Given the description of an element on the screen output the (x, y) to click on. 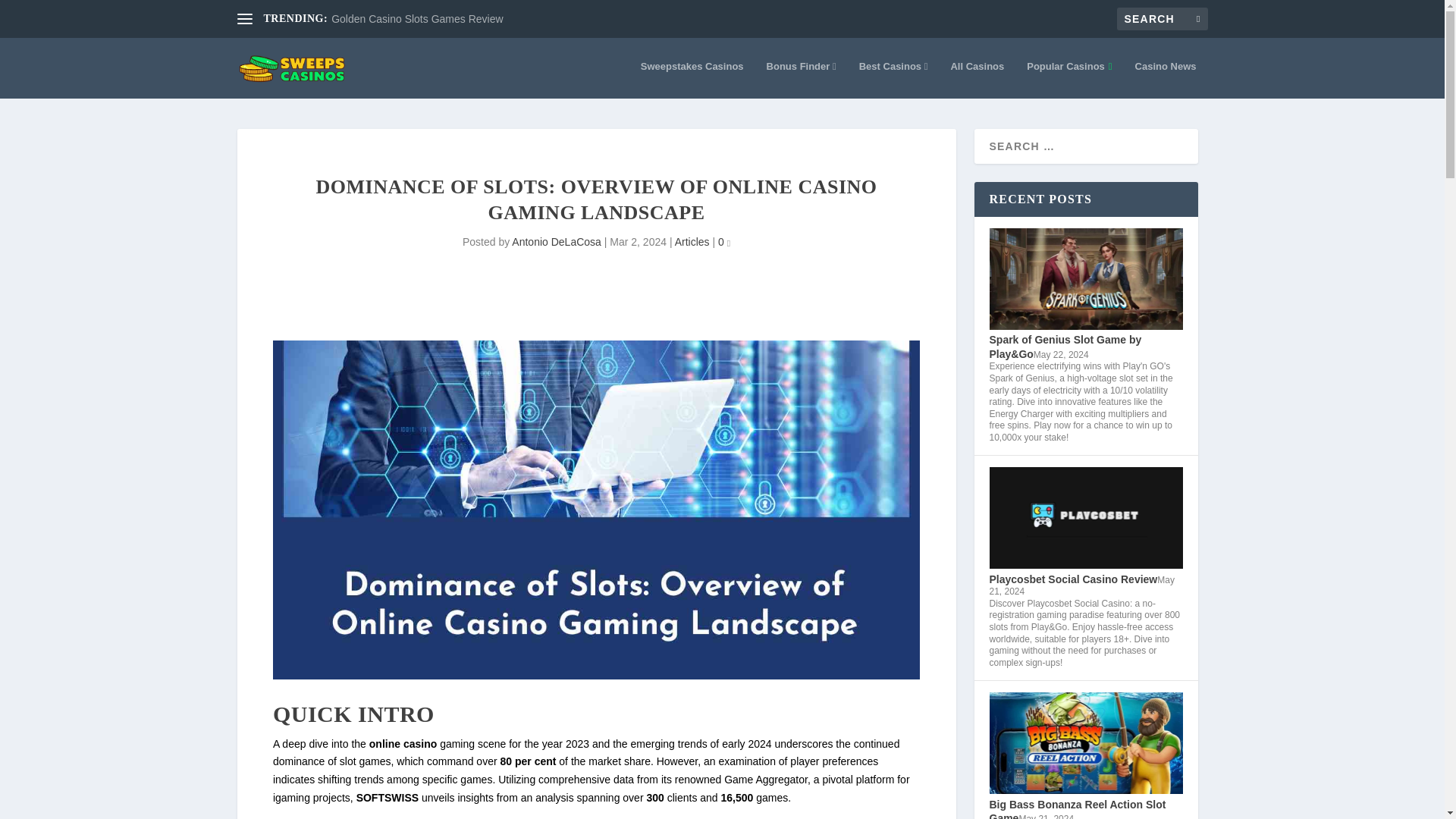
0 (723, 241)
Casino News (1165, 79)
Popular Casinos (1069, 79)
Golden Casino Slots Games Review (416, 19)
Search for: (1161, 18)
All Casinos (977, 79)
Articles (692, 241)
Sweepstakes Casinos (692, 79)
Antonio DeLaCosa (556, 241)
Posts by Antonio DeLaCosa (556, 241)
